Given the description of an element on the screen output the (x, y) to click on. 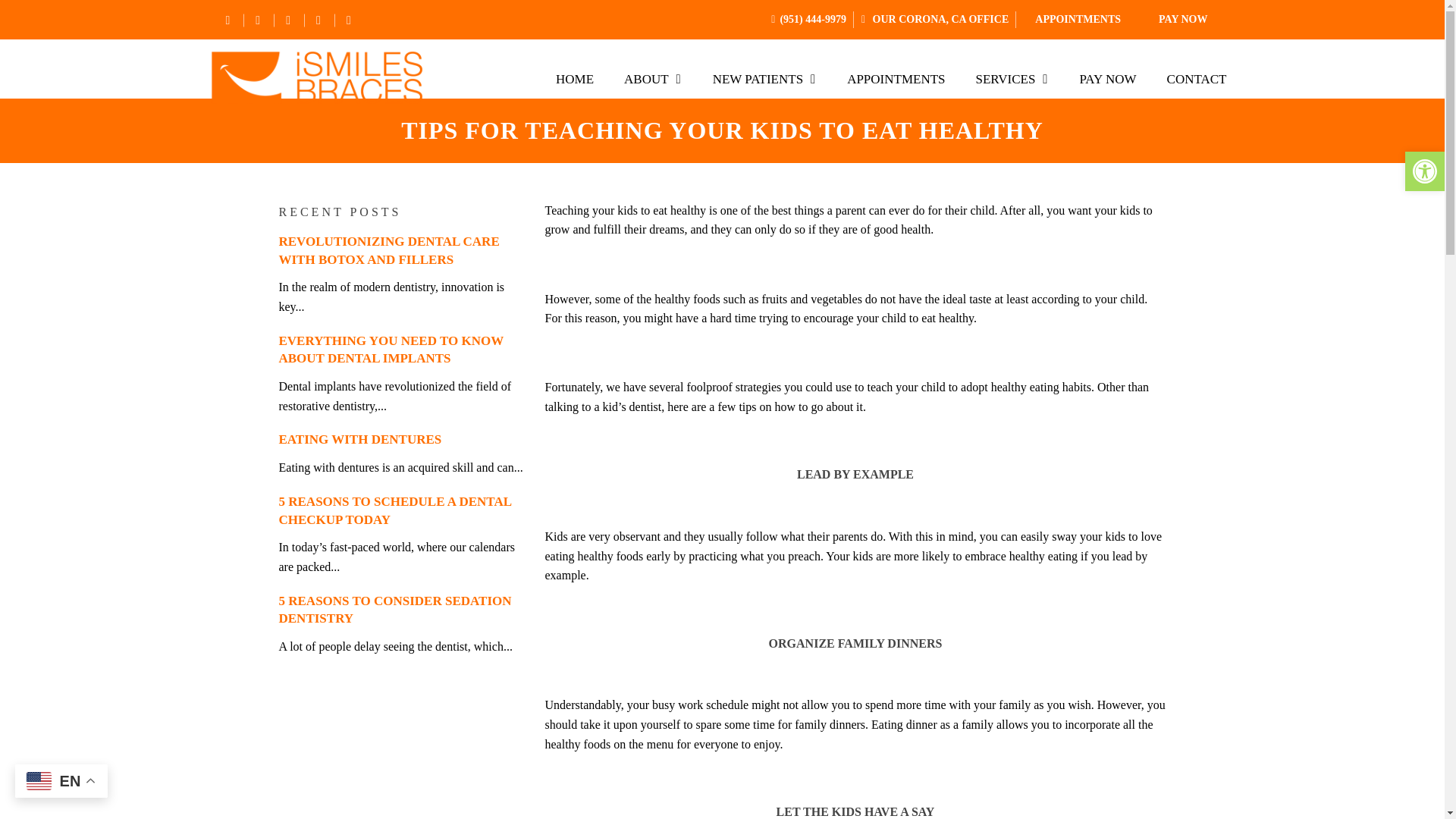
APPOINTMENTS (895, 79)
EVERYTHING YOU NEED TO KNOW ABOUT DENTAL IMPLANTS (391, 349)
REVOLUTIONIZING DENTAL CARE WITH BOTOX AND FILLERS (389, 250)
NEW PATIENTS (764, 79)
CONTACT (1196, 79)
PAY NOW (1182, 19)
Accessibility Tools (1424, 170)
SERVICES (1012, 79)
ABOUT (652, 79)
APPOINTMENTS (1077, 19)
OUR CORONA, CA OFFICE (939, 19)
PAY NOW (1107, 79)
HOME (574, 79)
